Given the description of an element on the screen output the (x, y) to click on. 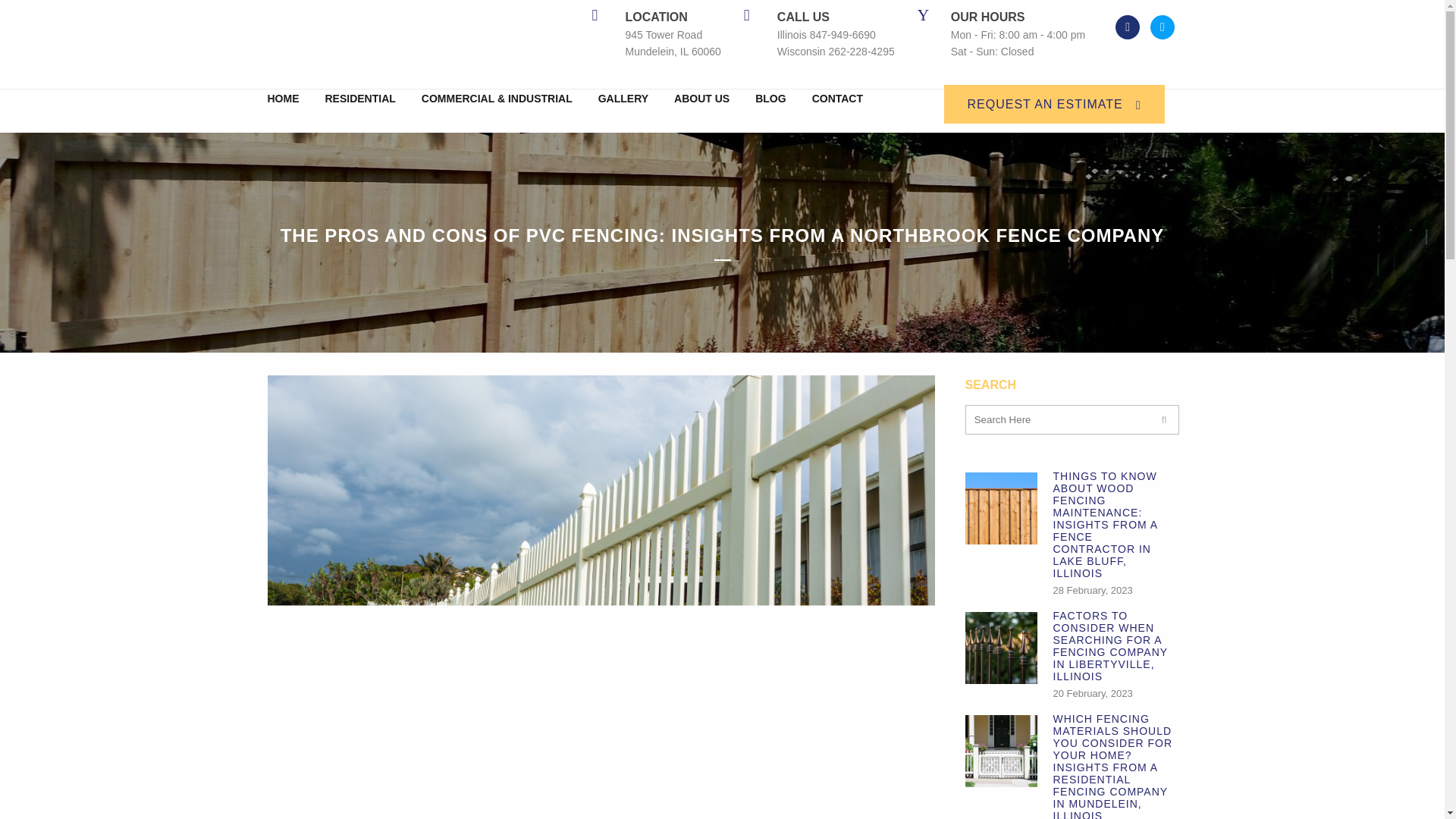
BLOG (769, 98)
RESIDENTIAL (361, 98)
ABOUT US (701, 98)
REQUEST AN ESTIMATE (1053, 104)
CONTACT (837, 98)
GALLERY (623, 98)
HOME (288, 98)
